Given the description of an element on the screen output the (x, y) to click on. 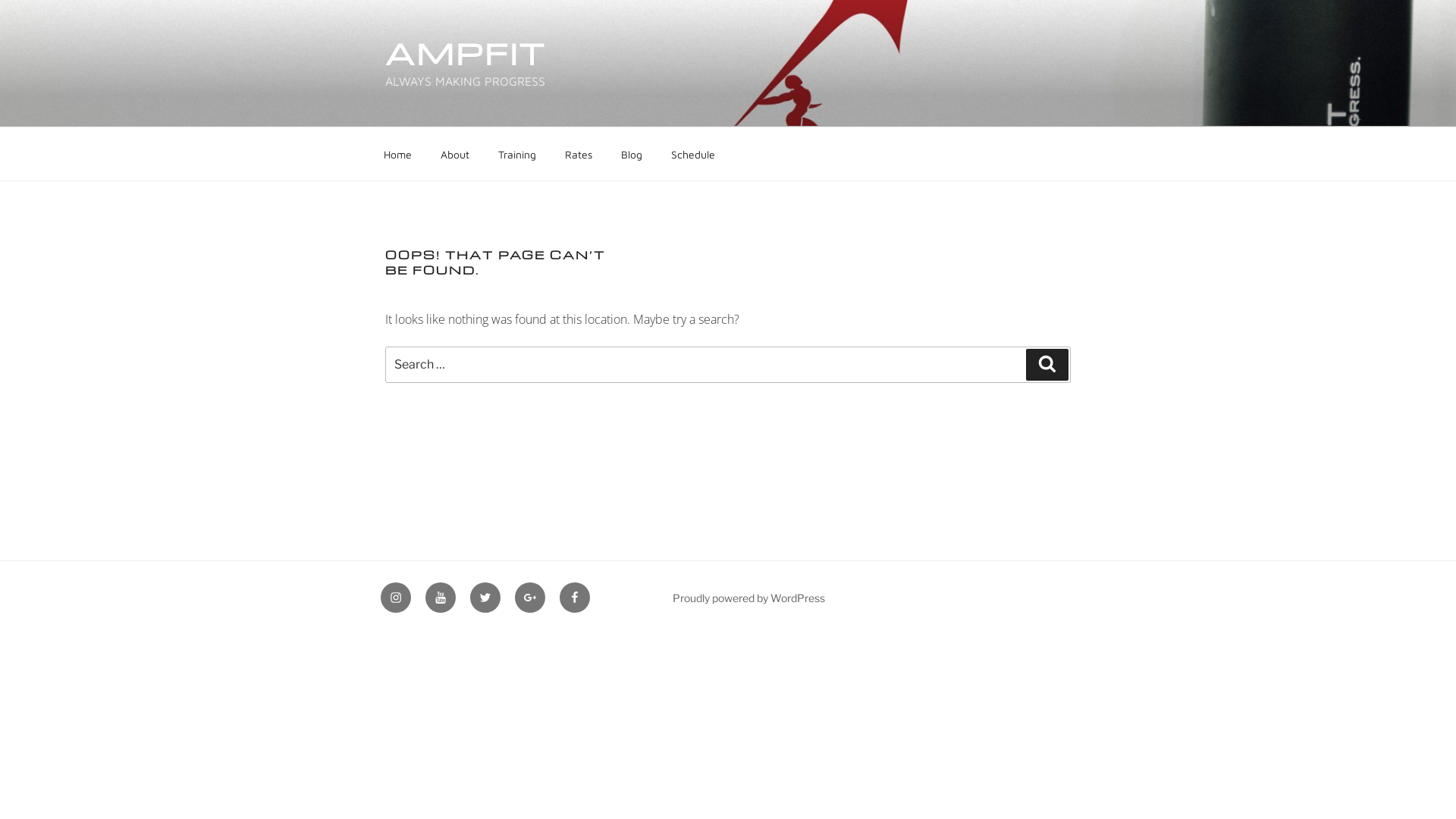
Youtube Element type: text (440, 597)
Schedule Element type: text (692, 153)
Proudly powered by WordPress Element type: text (748, 597)
Twitter Element type: text (485, 597)
Rates Element type: text (578, 153)
Search Element type: text (1047, 364)
Blog Element type: text (631, 153)
Google+ Element type: text (529, 597)
About Element type: text (454, 153)
Facebook Element type: text (574, 597)
Training Element type: text (516, 153)
Instagram Element type: text (395, 597)
Skip to content Element type: text (0, 0)
Home Element type: text (397, 153)
AMPFIT Element type: text (465, 52)
